Given the description of an element on the screen output the (x, y) to click on. 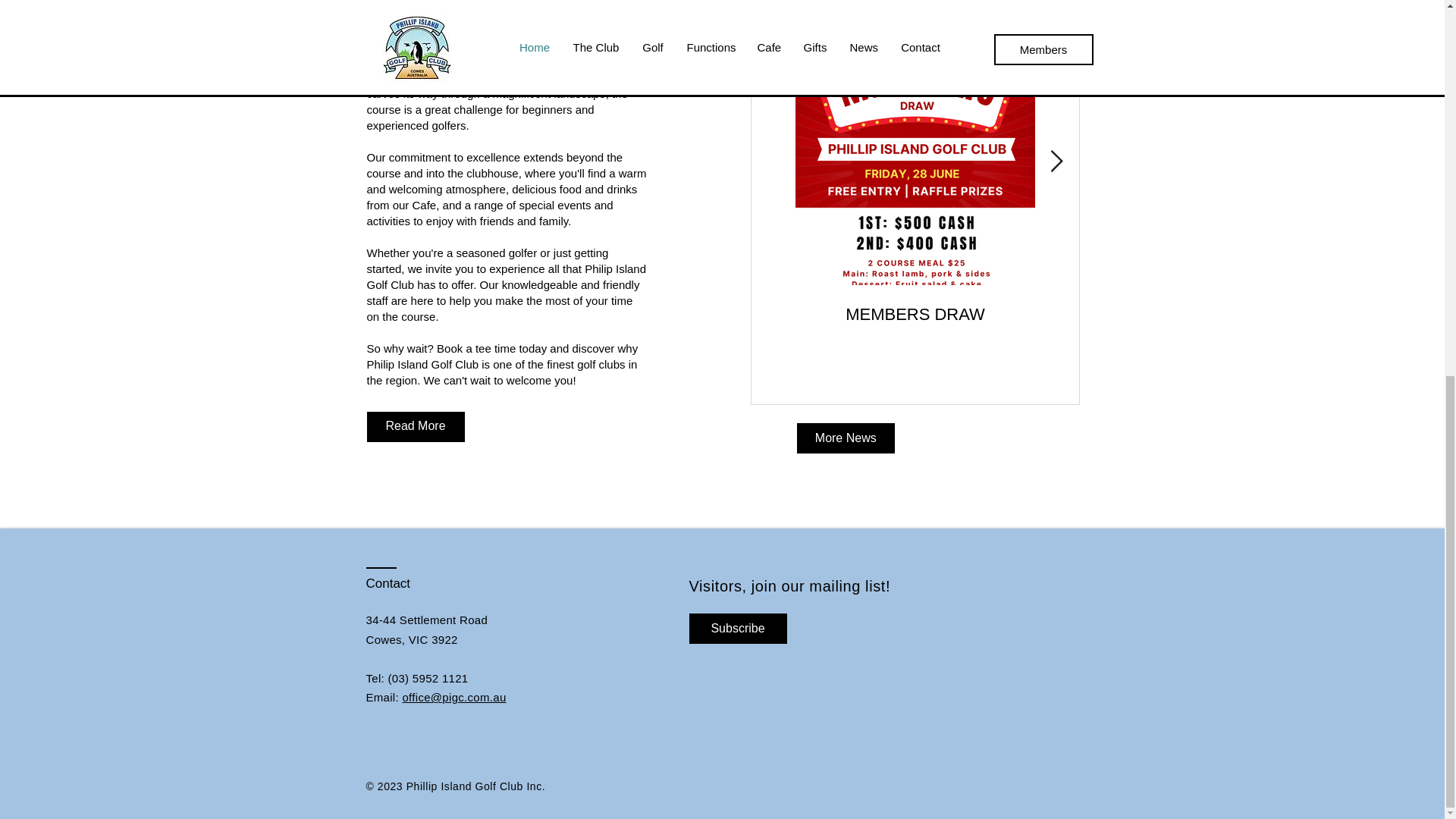
MEMBERS DRAW (915, 314)
MEMBERS DRAW (1154, 314)
Subscribe (737, 628)
Read More (415, 426)
More News (845, 438)
